Given the description of an element on the screen output the (x, y) to click on. 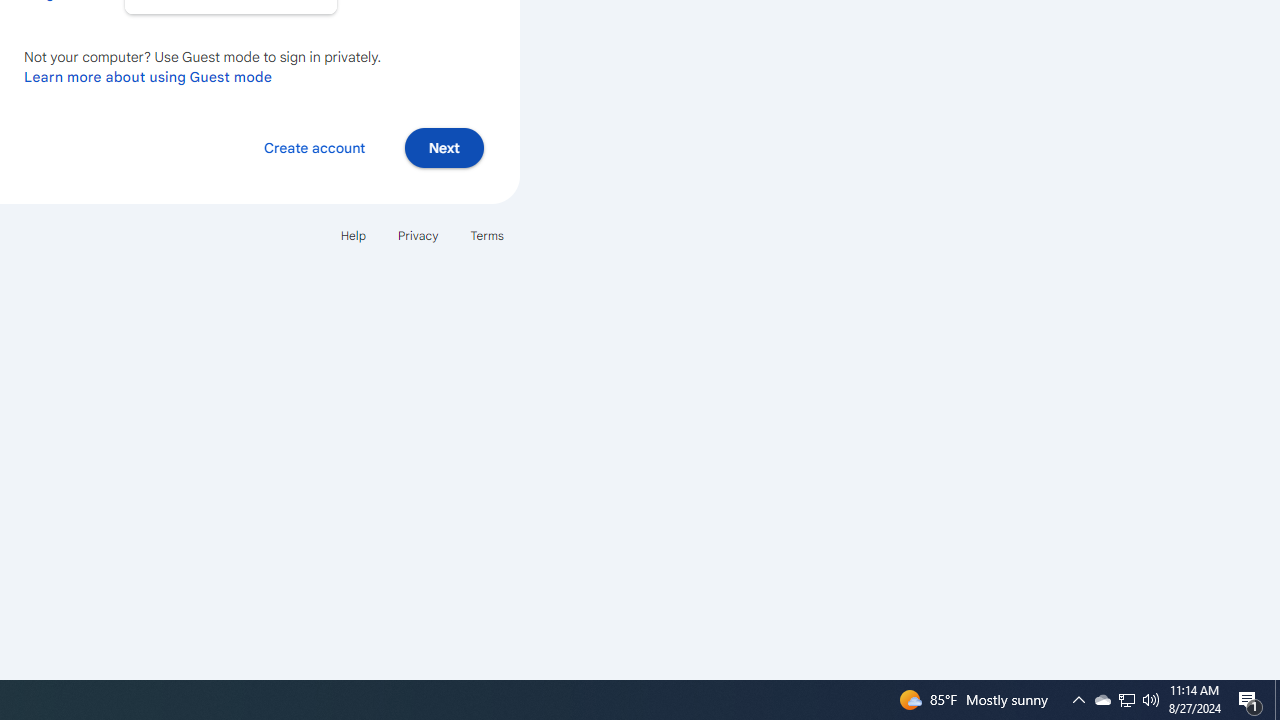
Learn more about using Guest mode (148, 76)
Create account (314, 146)
